Given the description of an element on the screen output the (x, y) to click on. 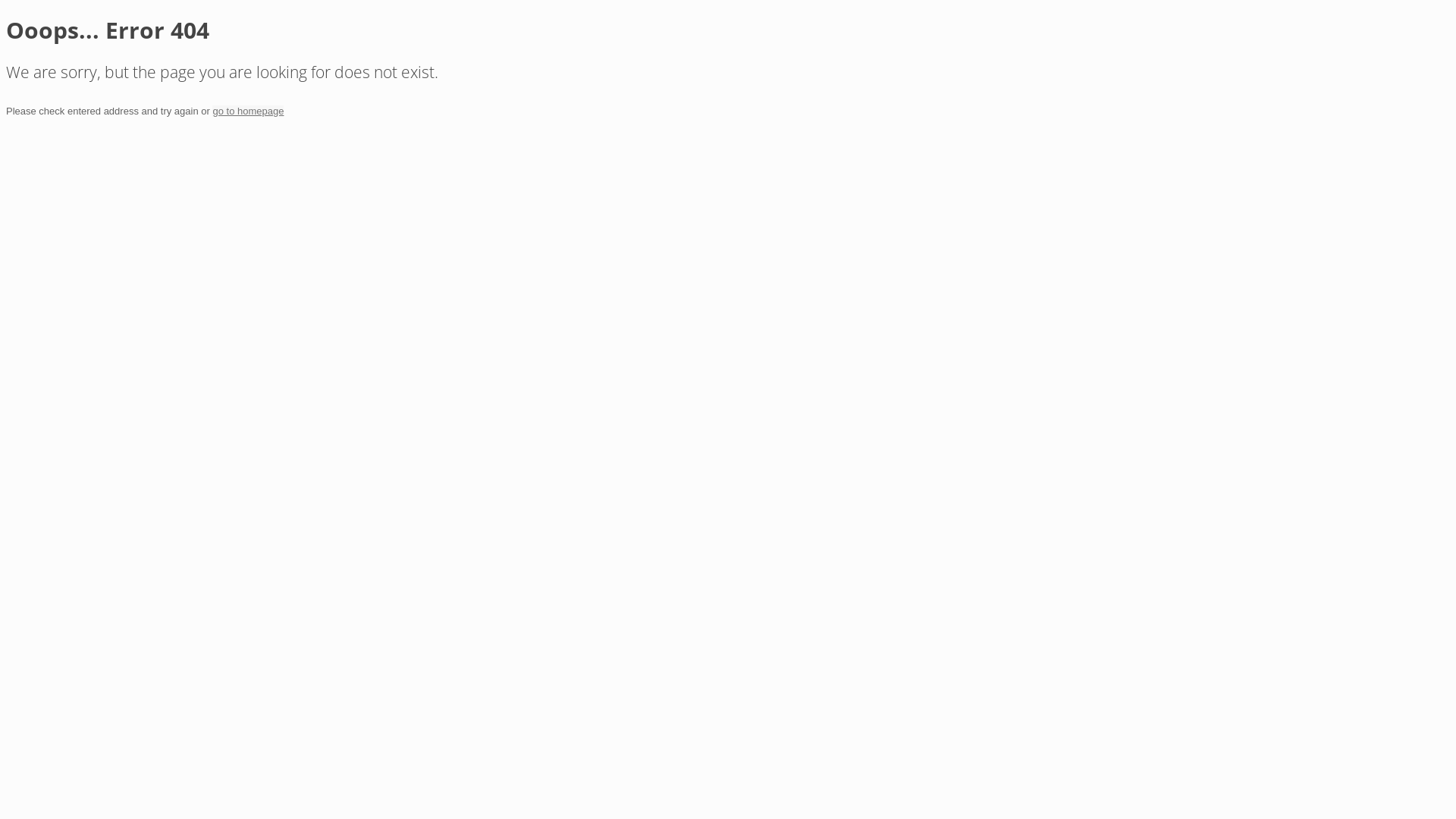
go to homepage Element type: text (247, 110)
